Given the description of an element on the screen output the (x, y) to click on. 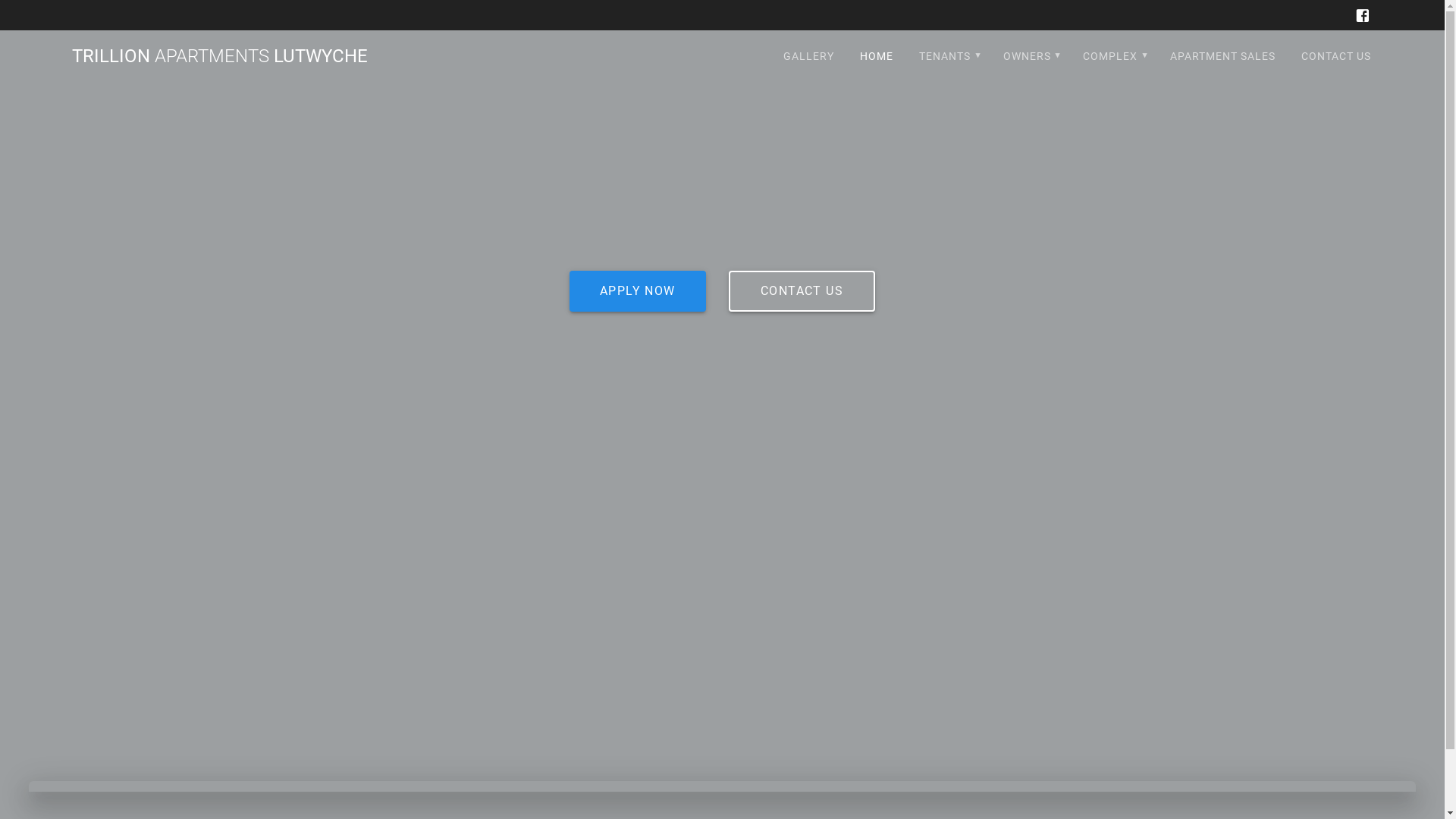
CONTACT US Element type: text (801, 290)
APPLY NOW Element type: text (637, 290)
TENANTS Element type: text (948, 56)
OWNERS Element type: text (1030, 56)
GALLERY Element type: text (808, 56)
TRILLION APARTMENTS LUTWYCHE Element type: text (219, 56)
APARTMENT SALES Element type: text (1222, 56)
COMPLEX Element type: text (1113, 56)
HOME Element type: text (876, 56)
CONTACT US Element type: text (1335, 56)
